Given the description of an element on the screen output the (x, y) to click on. 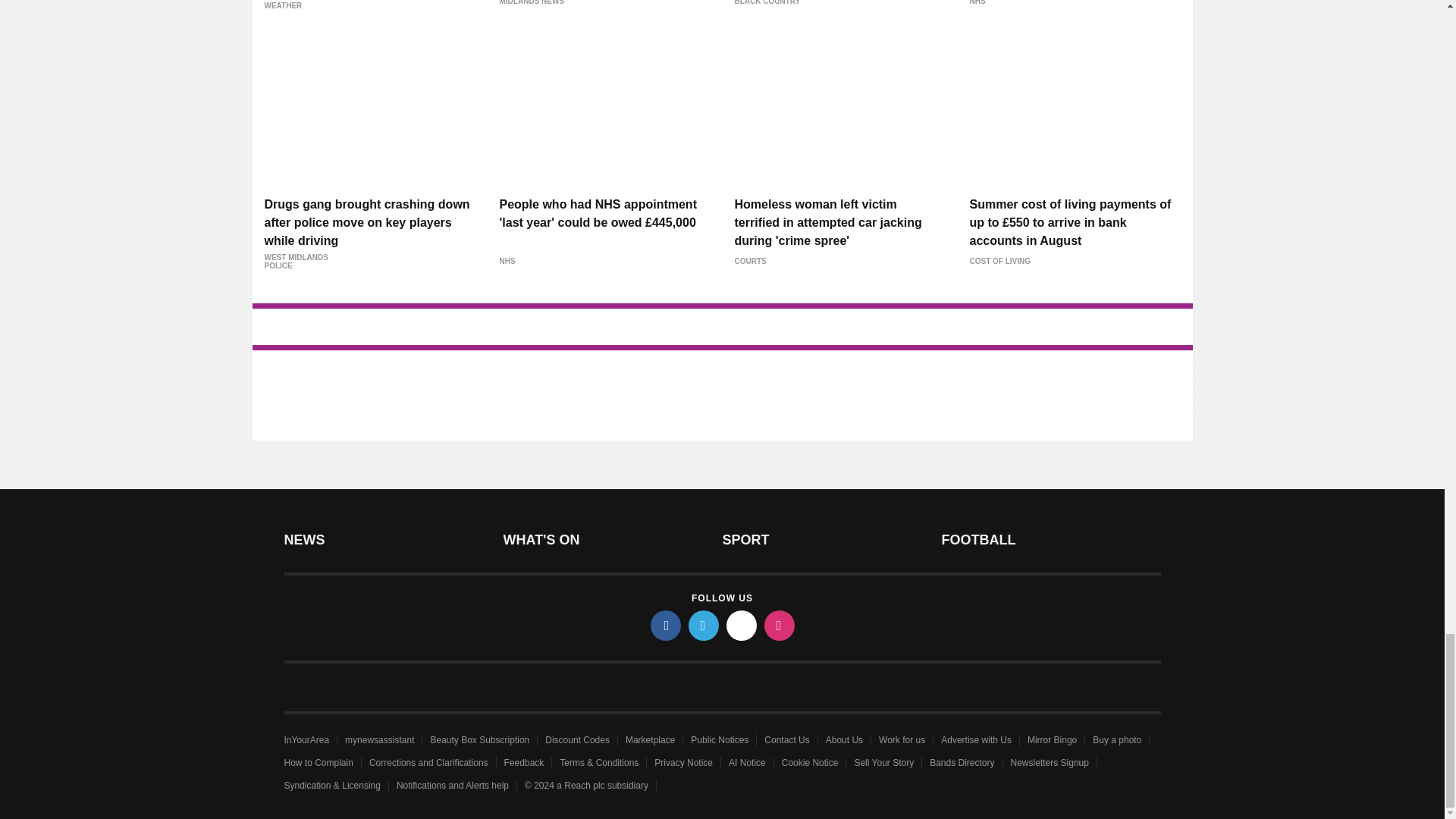
instagram (779, 625)
tiktok (741, 625)
facebook (665, 625)
twitter (703, 625)
